Given the description of an element on the screen output the (x, y) to click on. 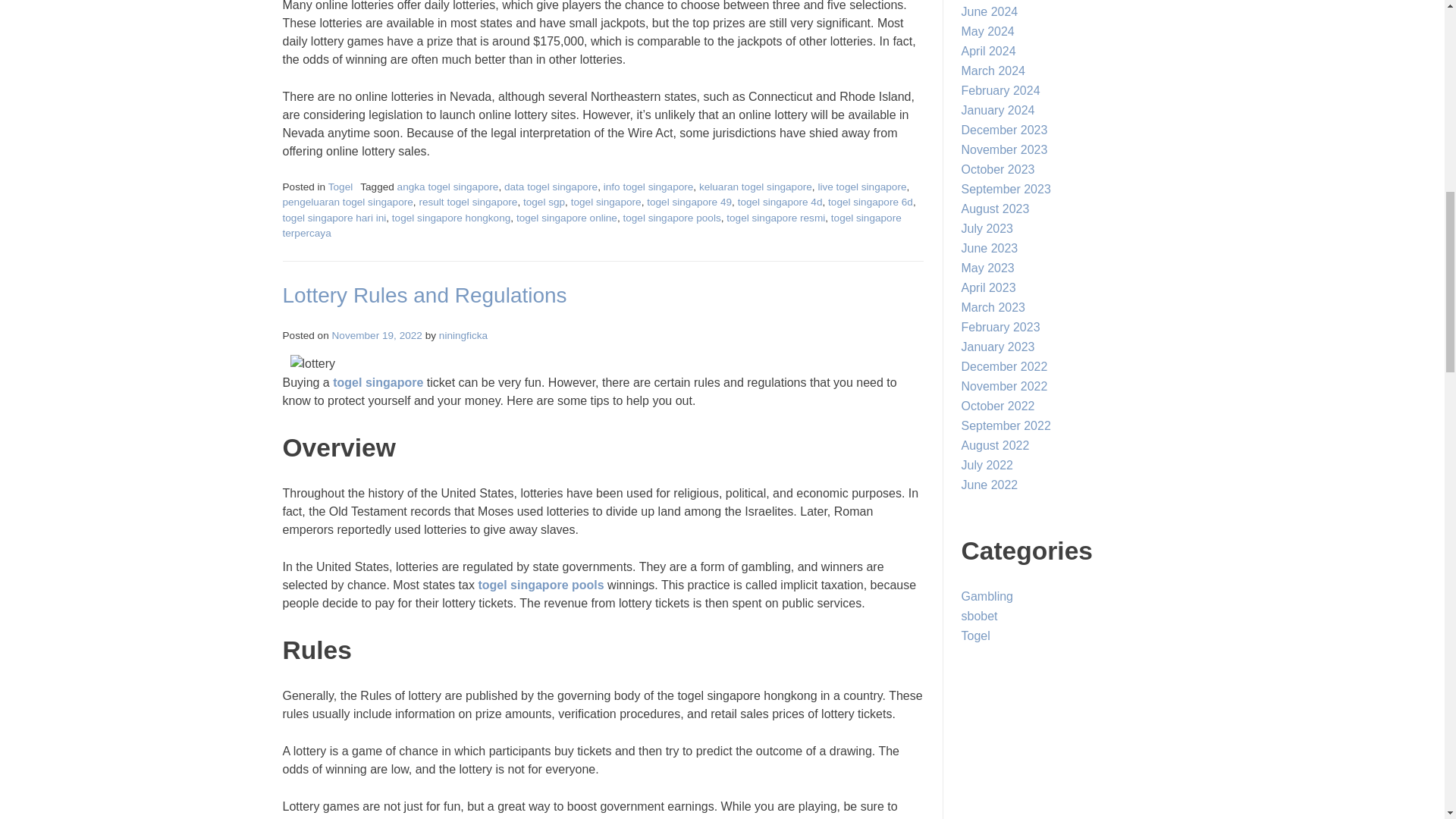
niningficka (463, 335)
togel singapore 6d (870, 202)
togel singapore 4d (780, 202)
Togel (341, 186)
November 19, 2022 (376, 335)
togel singapore pools (671, 217)
info togel singapore (649, 186)
togel singapore (378, 382)
togel singapore hongkong (451, 217)
togel singapore online (566, 217)
result togel singapore (467, 202)
angka togel singapore (448, 186)
togel singapore pools (540, 584)
pengeluaran togel singapore (347, 202)
togel singapore hari ini (333, 217)
